Given the description of an element on the screen output the (x, y) to click on. 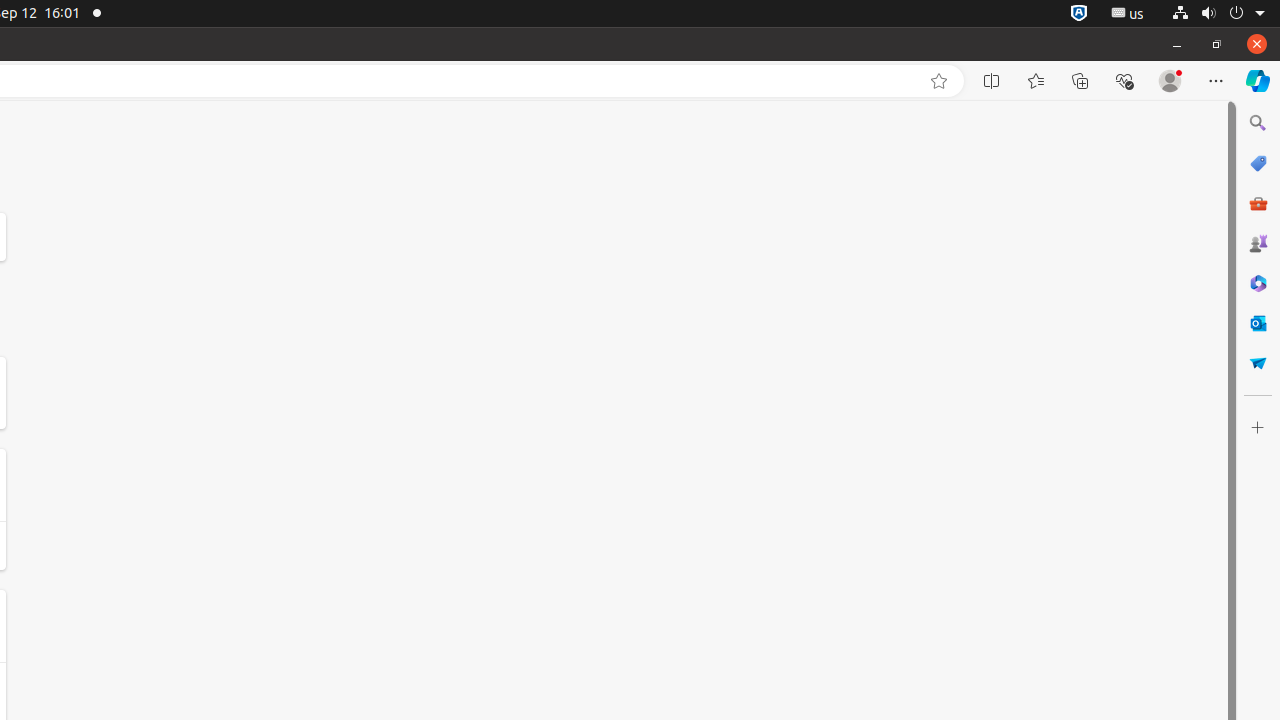
Customize Element type: push-button (1258, 428)
Search Element type: push-button (1258, 123)
Collections Element type: push-button (1080, 81)
Copilot (Ctrl+Shift+.) Element type: push-button (1258, 81)
Microsoft 365 Element type: push-button (1258, 283)
